Given the description of an element on the screen output the (x, y) to click on. 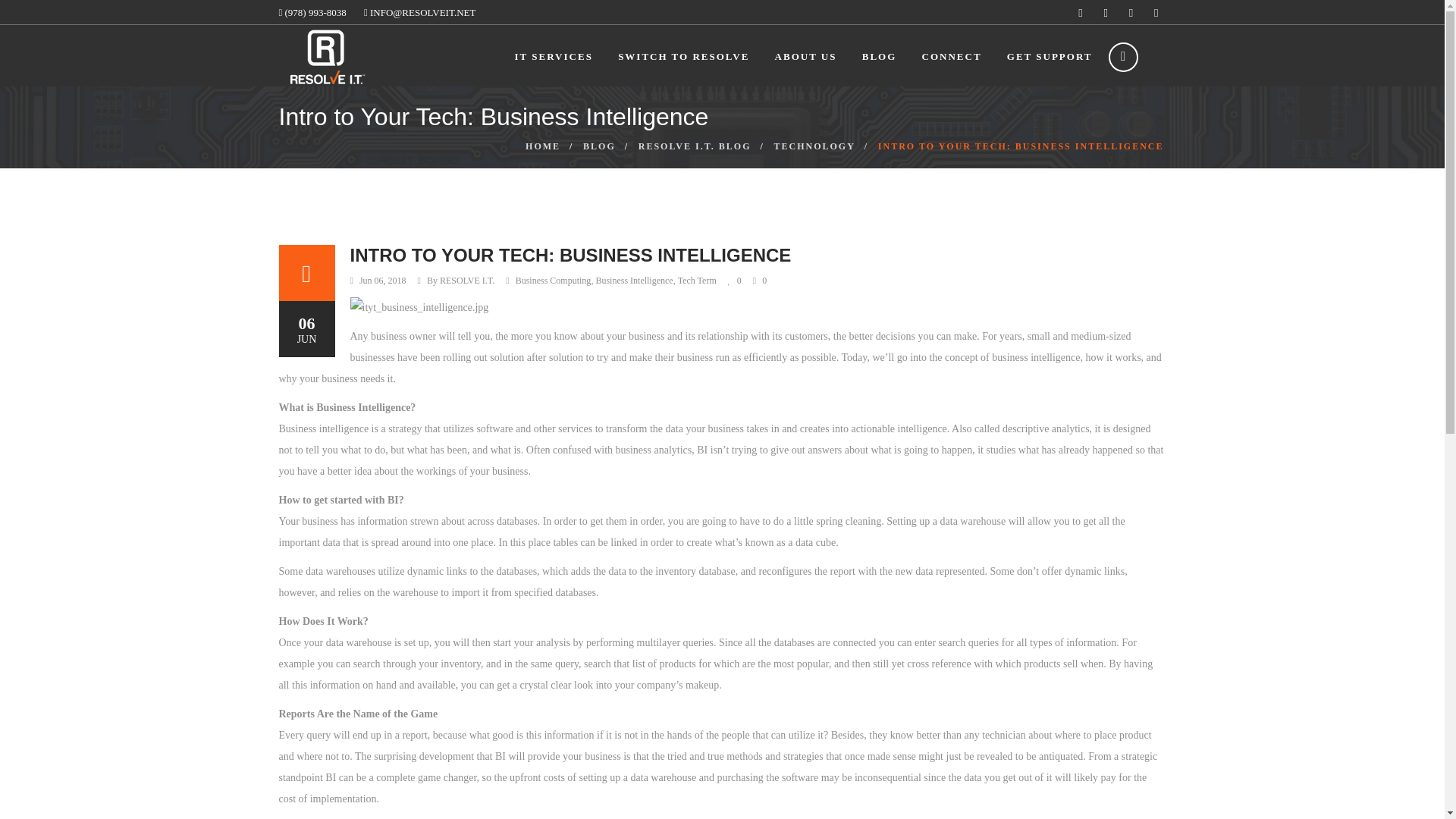
BLOG (878, 56)
HOME (542, 145)
ABOUT US (805, 56)
IT SERVICES (553, 56)
GET SUPPORT (1050, 56)
CONNECT (951, 56)
BLOG (599, 145)
TECHNOLOGY (813, 145)
RESOLVE I.T. BLOG (695, 145)
SWITCH TO RESOLVE (683, 56)
By RESOLVE I.T. (460, 280)
